Given the description of an element on the screen output the (x, y) to click on. 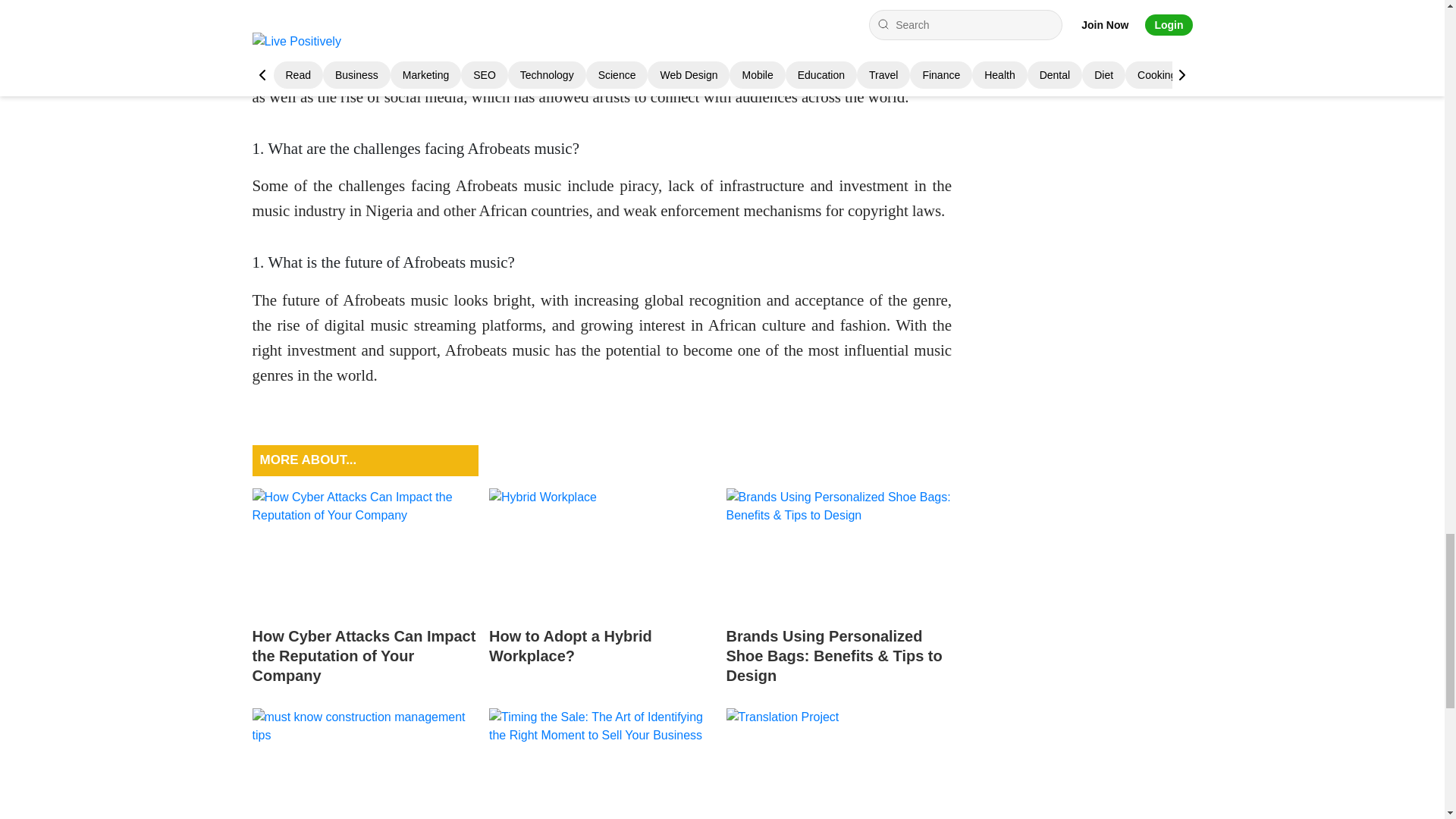
Translation Project (839, 763)
How Cyber Attacks Can Impact the Reputation of Your Company (364, 590)
Hybrid Workplace (601, 551)
must know construction management tips (364, 763)
How Cyber Attacks Can Impact the Reputation of Your Company (364, 551)
How to Adopt a Hybrid Workplace? (601, 590)
